Given the description of an element on the screen output the (x, y) to click on. 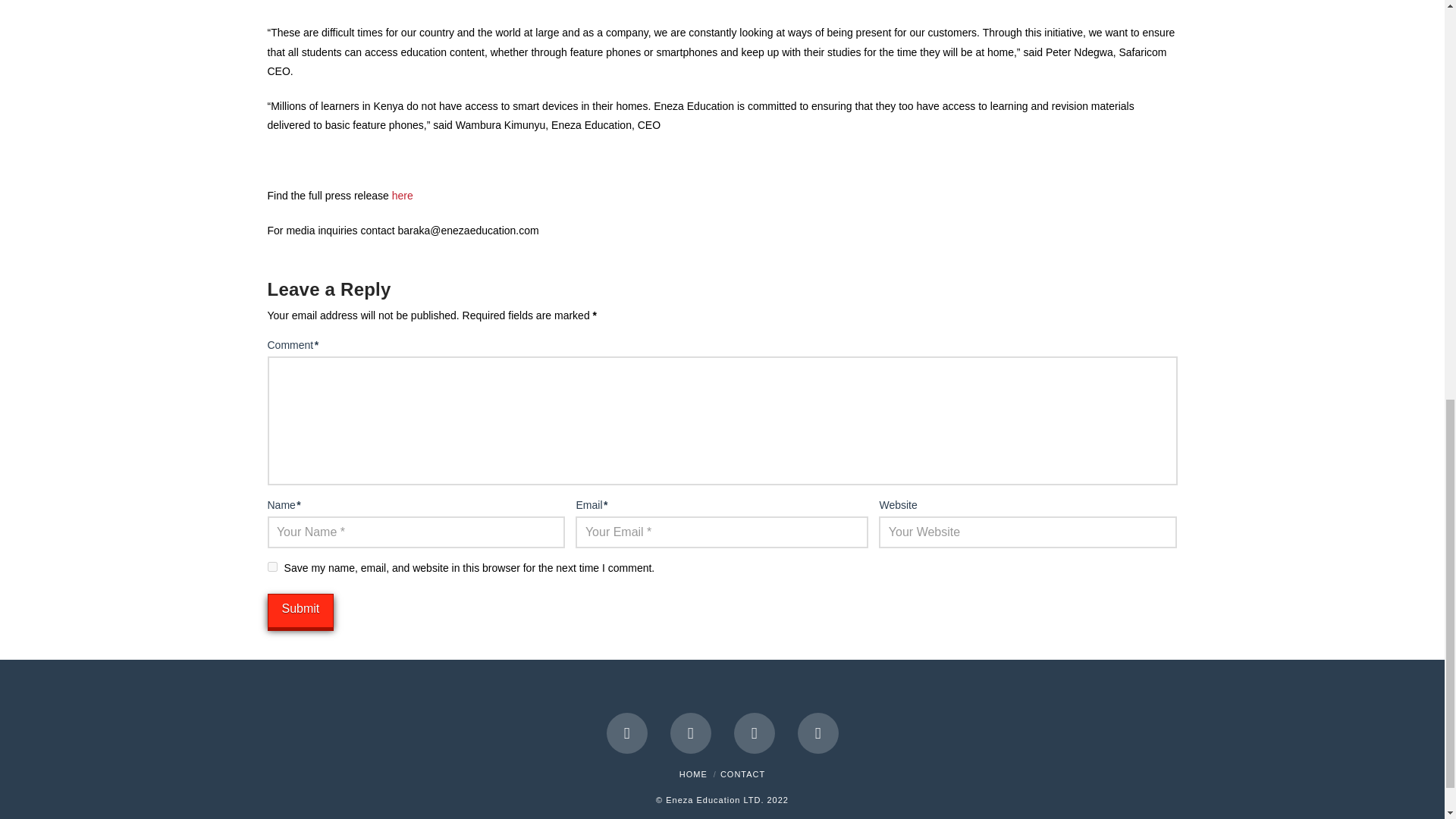
Instagram (817, 732)
Submit (299, 610)
Facebook (627, 732)
LinkedIn (753, 732)
HOME (693, 773)
here (402, 195)
Submit (299, 610)
CONTACT (742, 773)
yes (271, 566)
